Given the description of an element on the screen output the (x, y) to click on. 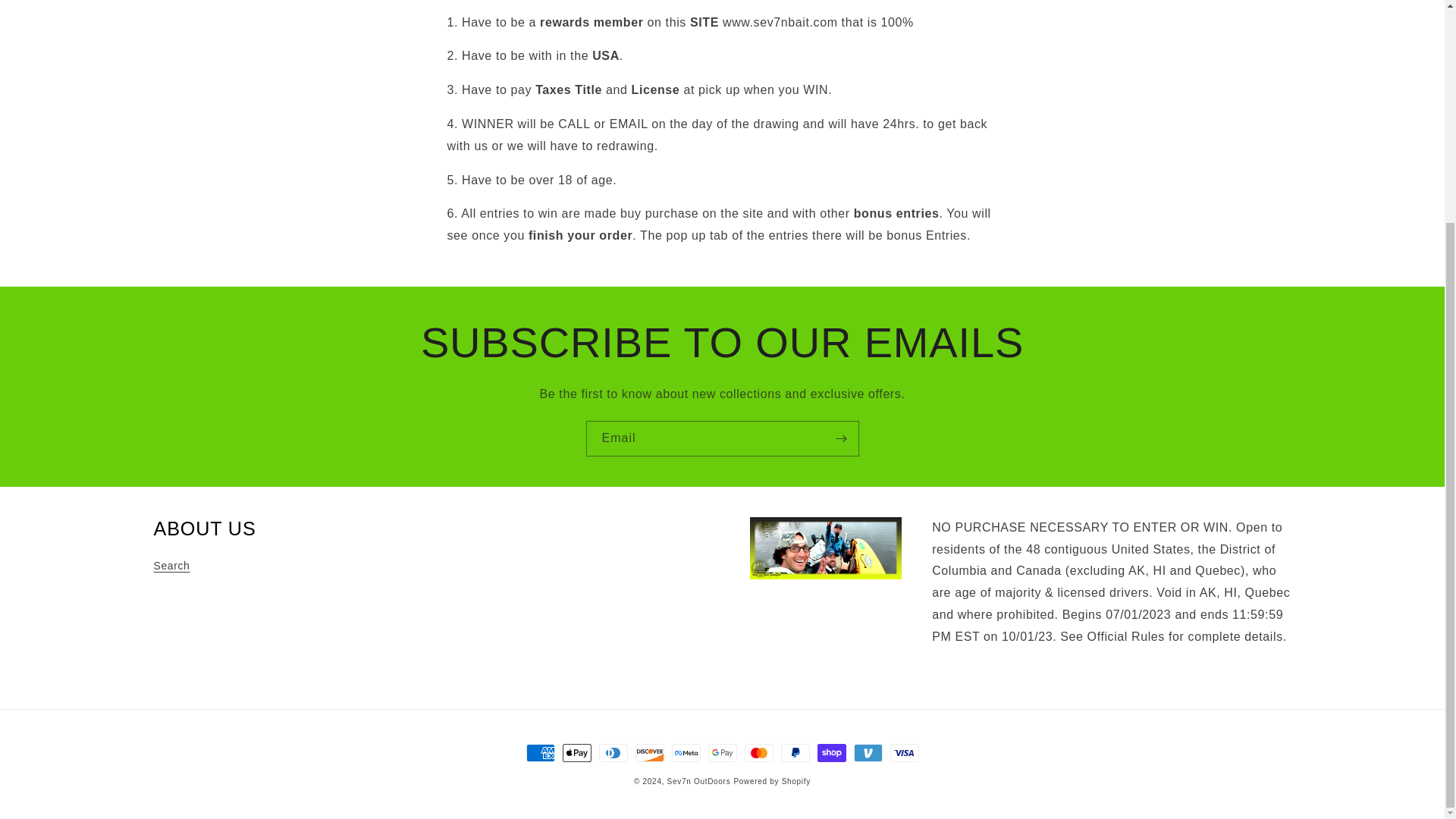
Powered by Shopify (771, 780)
Search (170, 567)
Sev7n OutDoors (698, 780)
